Given the description of an element on the screen output the (x, y) to click on. 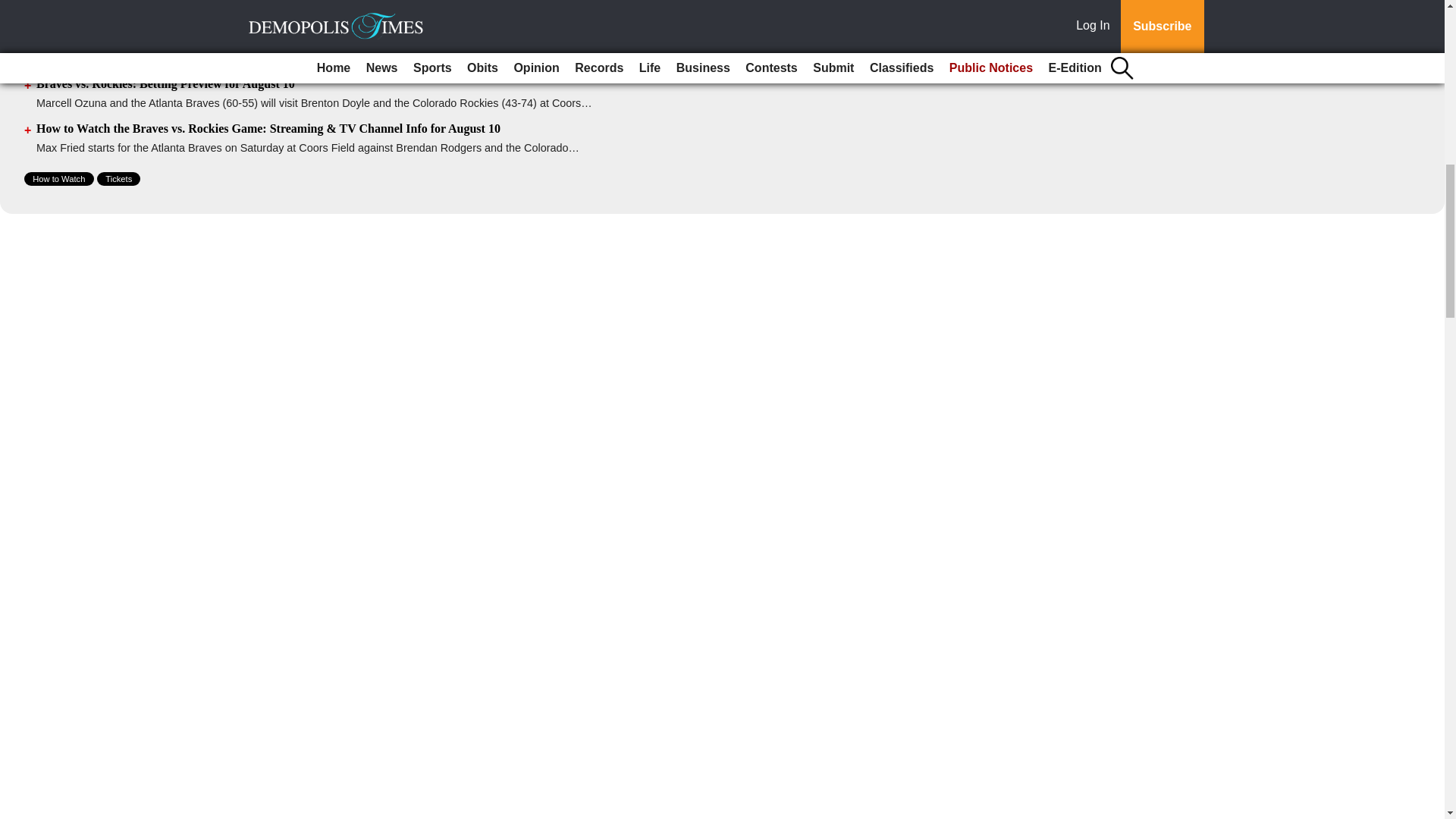
How to Watch (59, 178)
Braves vs. Rockies: Betting Preview for August 10 (165, 83)
Braves vs. Rockies: Betting Preview for August 11 (165, 38)
Tickets (118, 178)
